Given the description of an element on the screen output the (x, y) to click on. 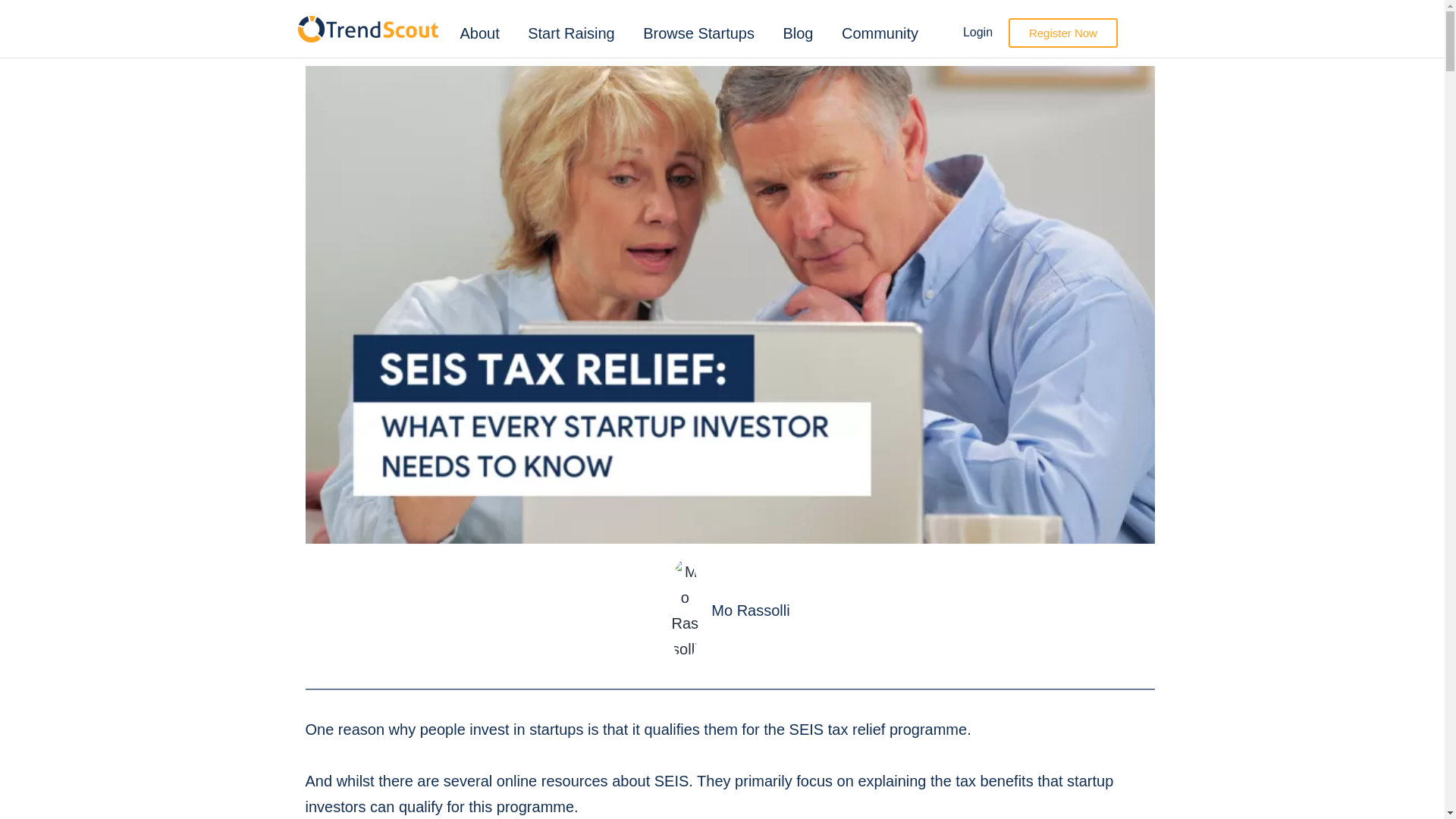
Mo Rassolli (729, 609)
Browse Startups (698, 32)
About (479, 32)
Register Now (1063, 32)
Start Raising (570, 32)
Community (880, 32)
Blog (798, 32)
Login (977, 31)
